Given the description of an element on the screen output the (x, y) to click on. 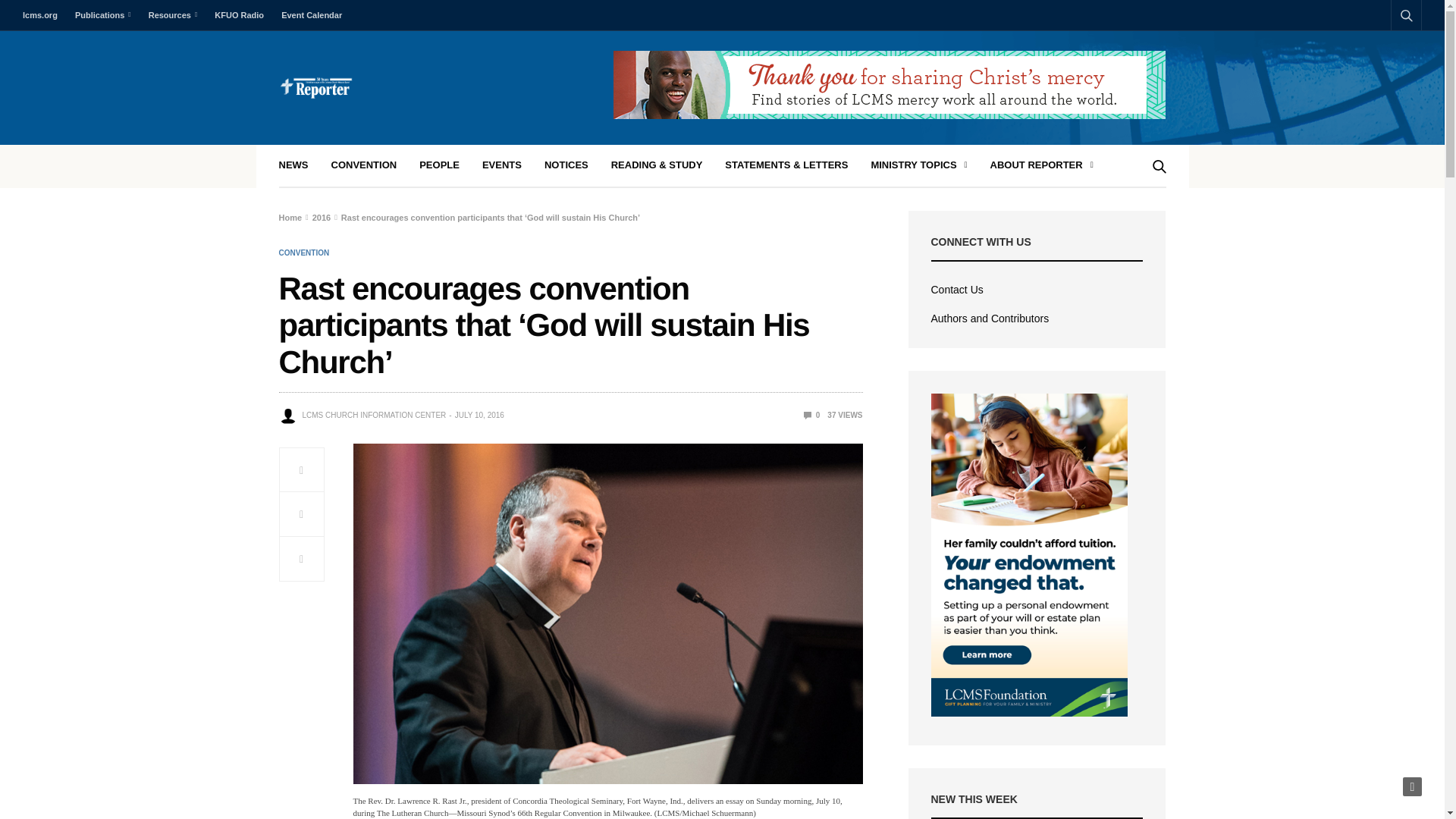
Posts by LCMS Church Information Center (373, 415)
Convention (304, 253)
lcms.org (44, 15)
Publications (102, 15)
